Given the description of an element on the screen output the (x, y) to click on. 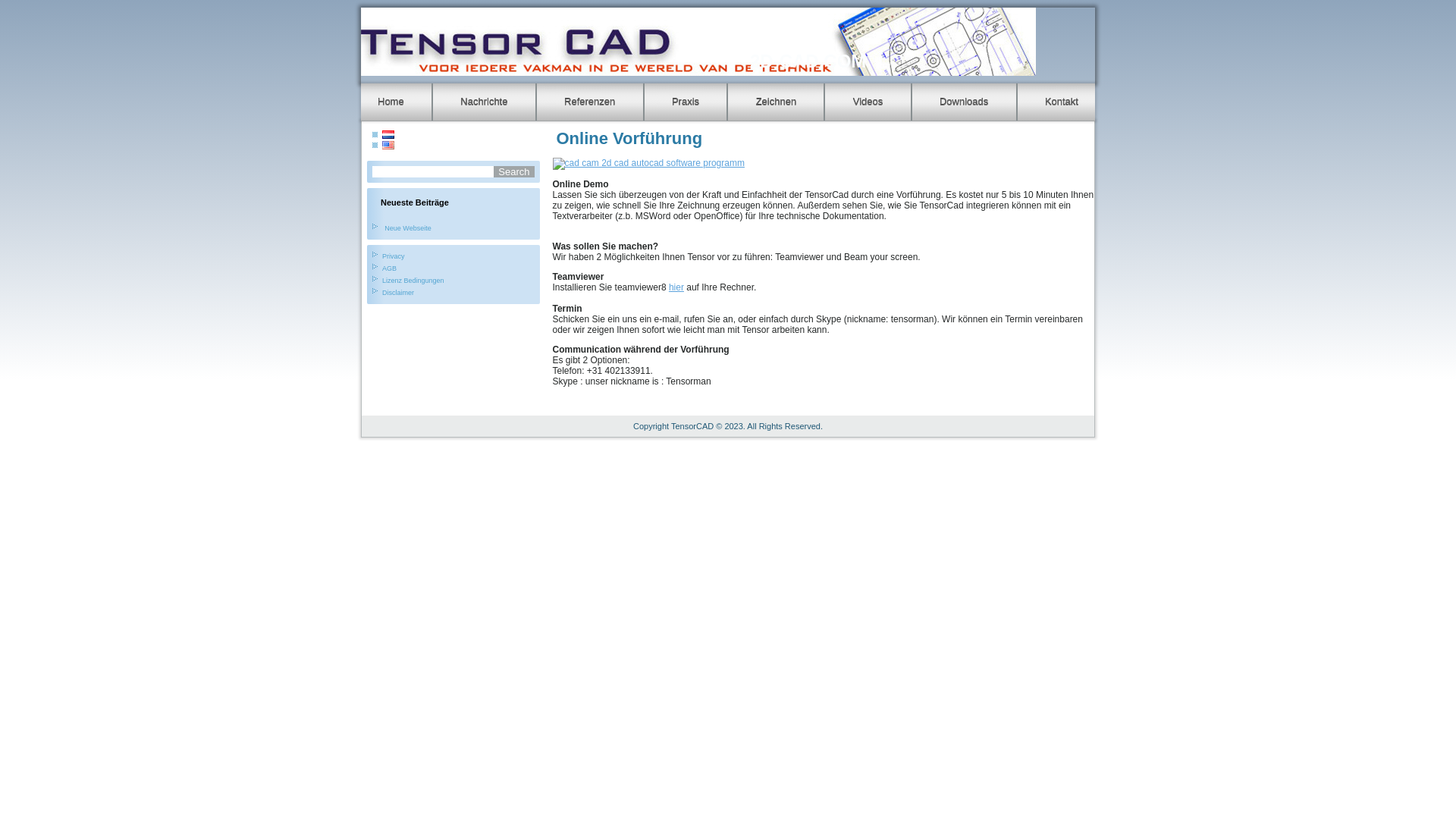
Neue Webseite Element type: text (407, 228)
Downloads Element type: text (963, 101)
Home Element type: text (390, 101)
Disclaimer Element type: text (398, 292)
2D-CAD.COM Element type: text (807, 60)
AGB Element type: text (389, 268)
Referenzen Element type: text (589, 101)
Praxis Element type: text (685, 101)
Zeichnen Element type: text (776, 101)
Lizenz Bedingungen Element type: text (413, 280)
hier Element type: text (676, 287)
Kontakt Element type: text (1061, 101)
Videos Element type: text (868, 101)
Privacy Element type: text (393, 256)
Nachrichte Element type: text (483, 101)
Search Element type: text (513, 171)
